Given the description of an element on the screen output the (x, y) to click on. 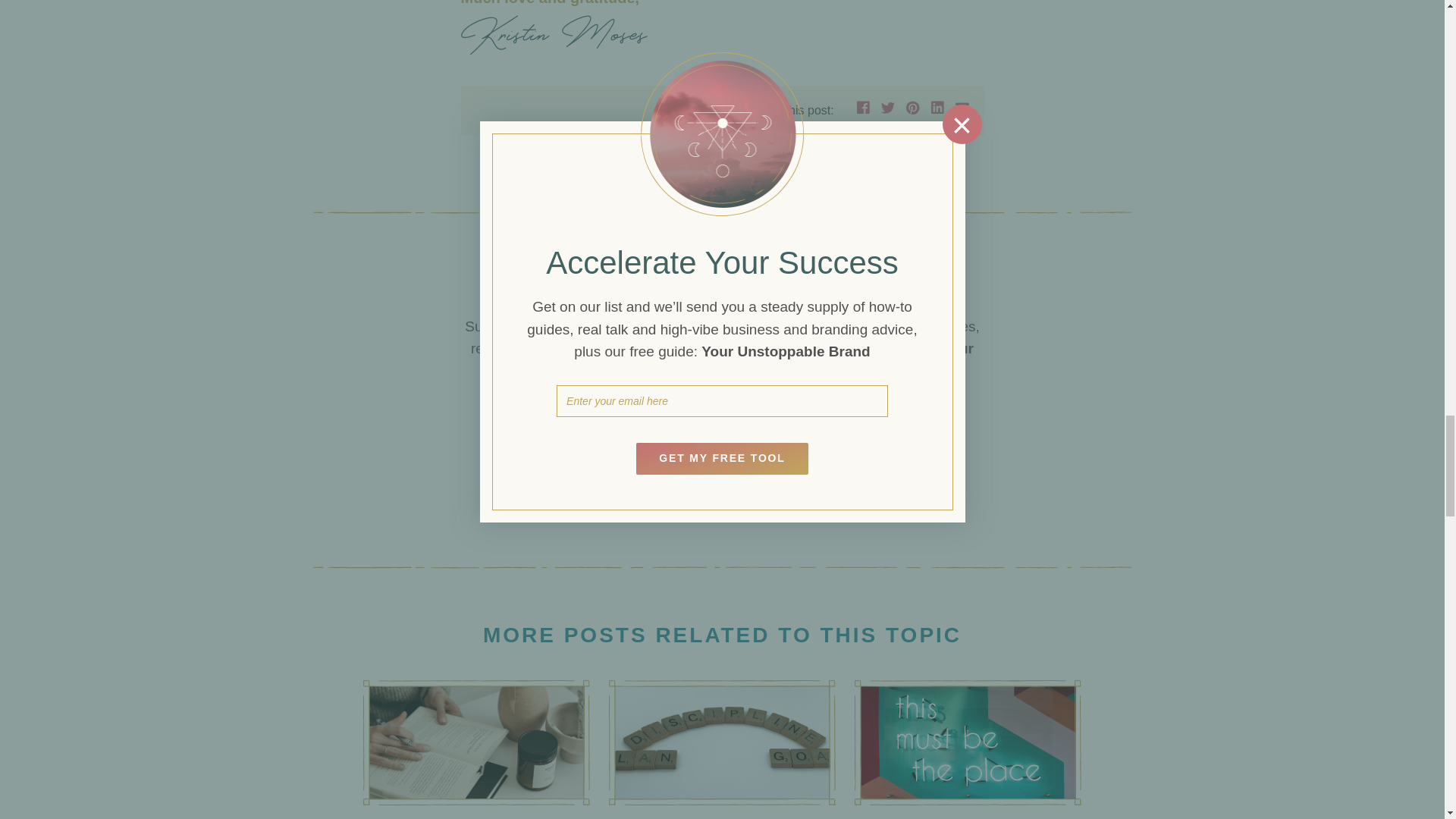
Email (962, 107)
Share on LinkedIn (936, 107)
Share on Facebook (863, 107)
Tweet this (887, 107)
Get My Free Tool (722, 489)
Get My Free Tool (722, 489)
Pin this (912, 107)
